Given the description of an element on the screen output the (x, y) to click on. 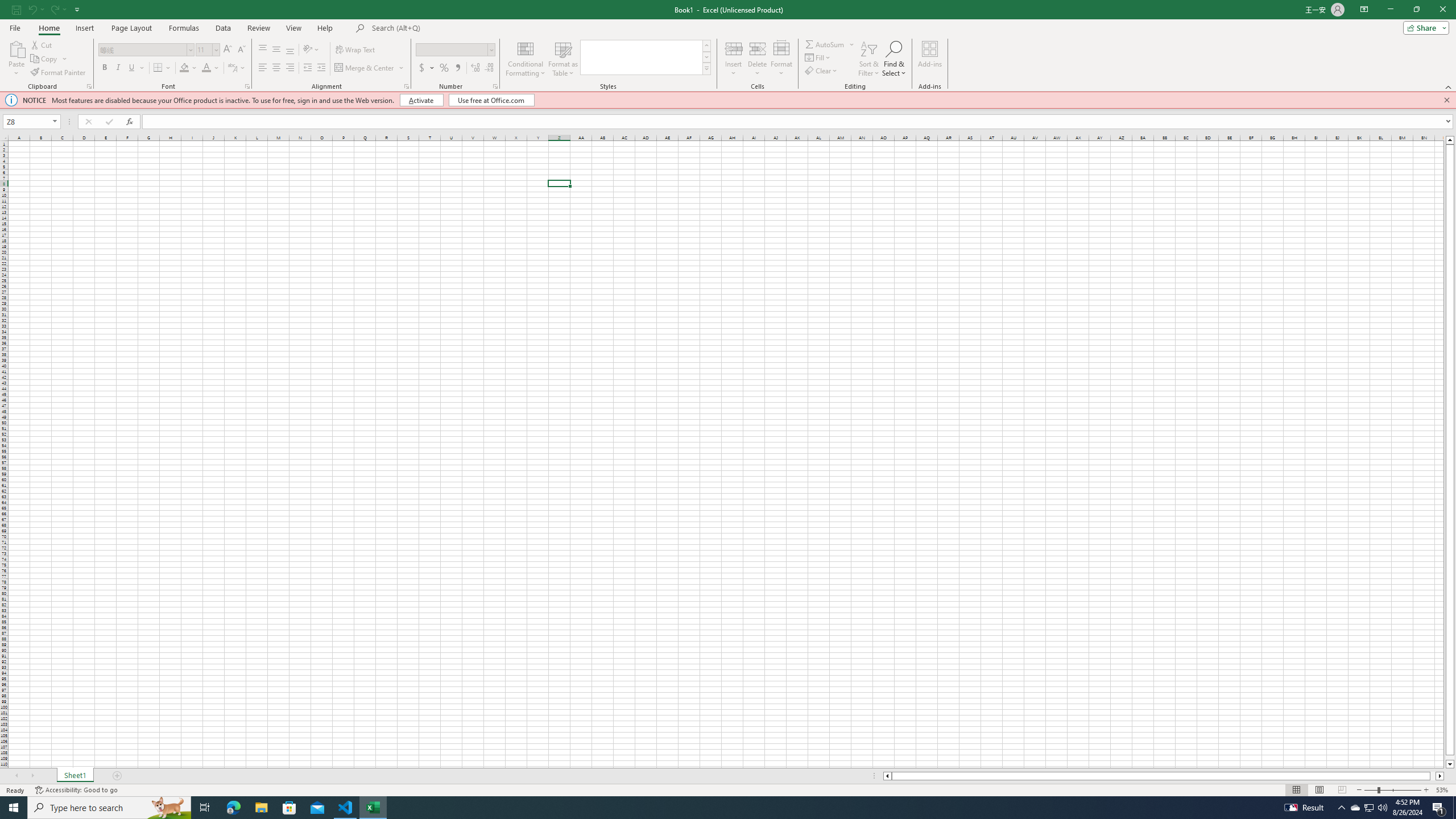
Font Color (206, 67)
Show Phonetic Field (231, 67)
Insert Cells (733, 48)
Increase Indent (320, 67)
Format Painter (58, 72)
Format (781, 58)
Format as Table (563, 58)
Formula Bar (798, 121)
Decrease Decimal (489, 67)
Fill Color (183, 67)
Cut (42, 44)
Close this message (1446, 99)
